Given the description of an element on the screen output the (x, y) to click on. 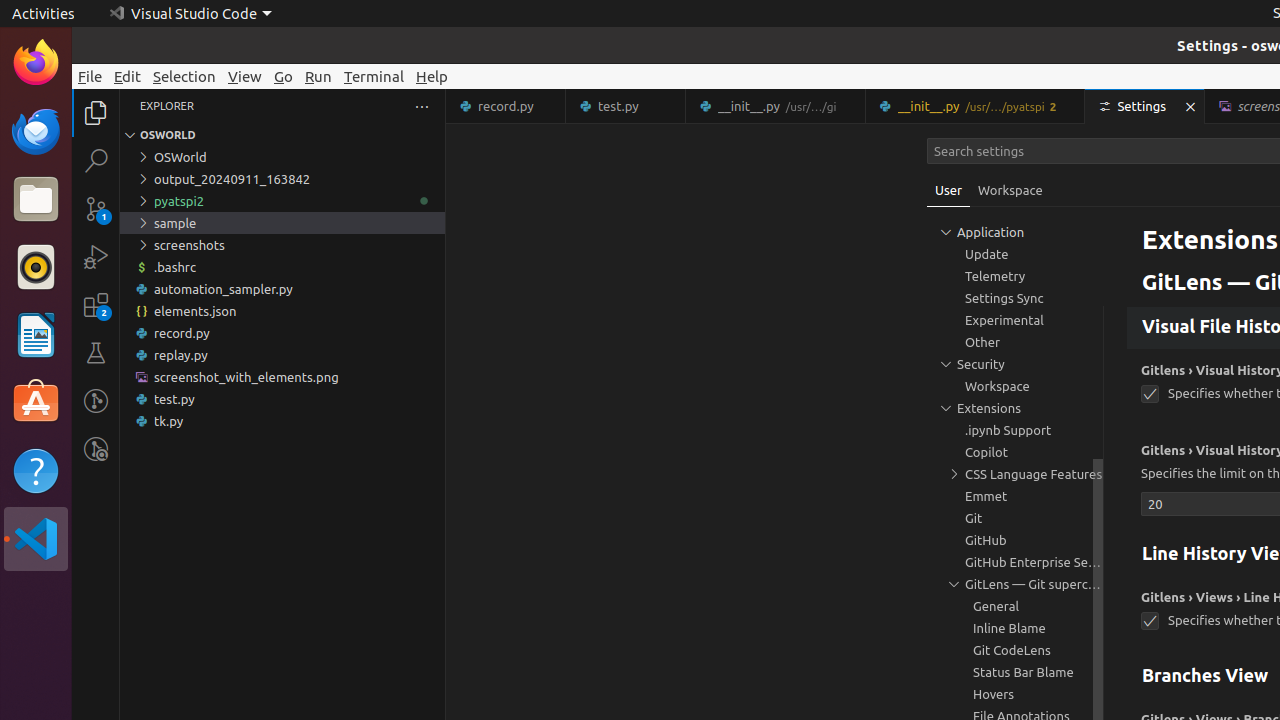
screenshot_with_elements.png Element type: tree-item (282, 377)
replay.py Element type: tree-item (282, 355)
File Element type: push-button (90, 76)
record.py Element type: tree-item (282, 333)
Source Control (Ctrl+Shift+G G) - 1 pending changes Source Control (Ctrl+Shift+G G) - 1 pending changes Element type: page-tab (96, 208)
